Given the description of an element on the screen output the (x, y) to click on. 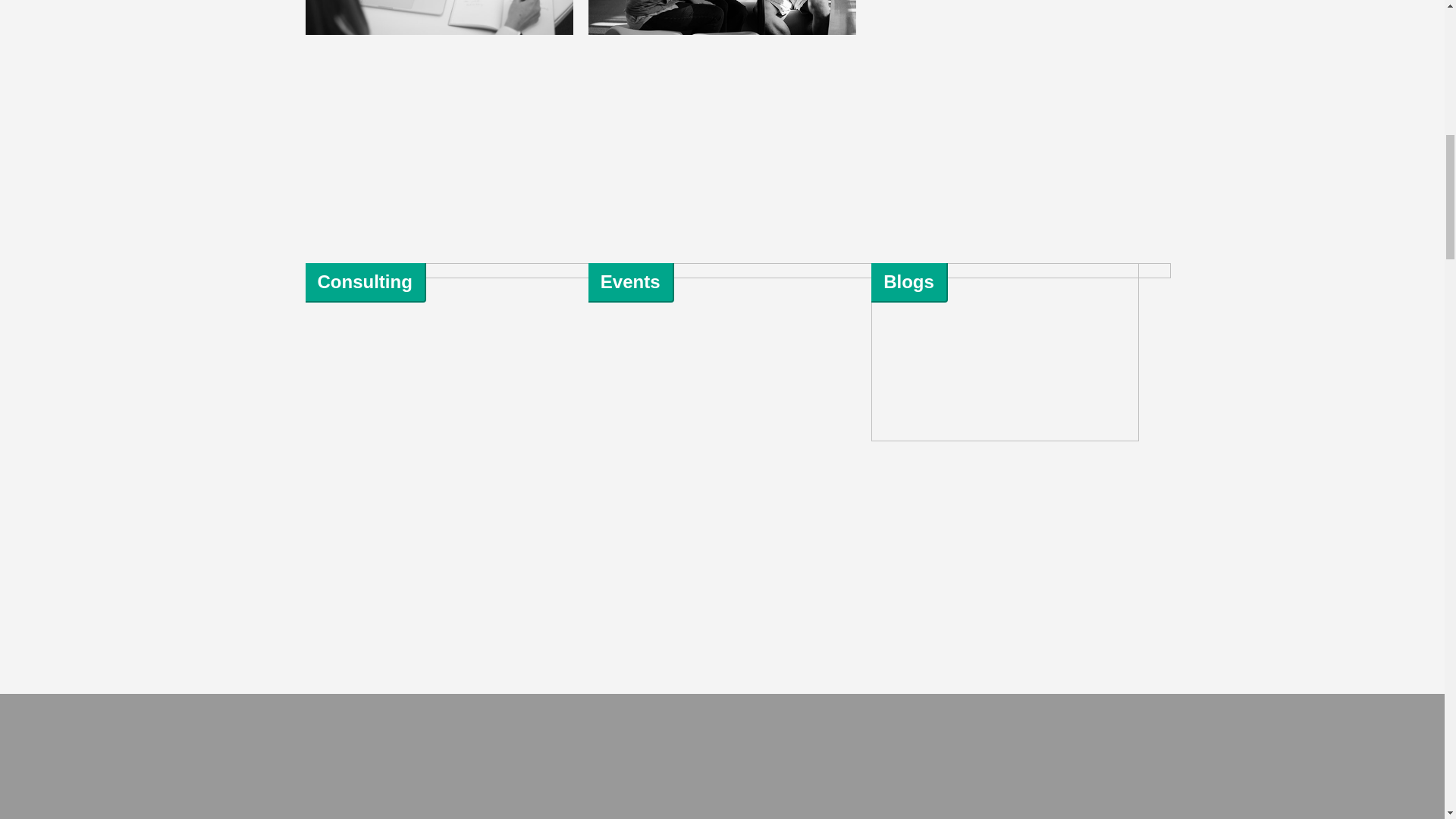
Consulting (364, 281)
